Given the description of an element on the screen output the (x, y) to click on. 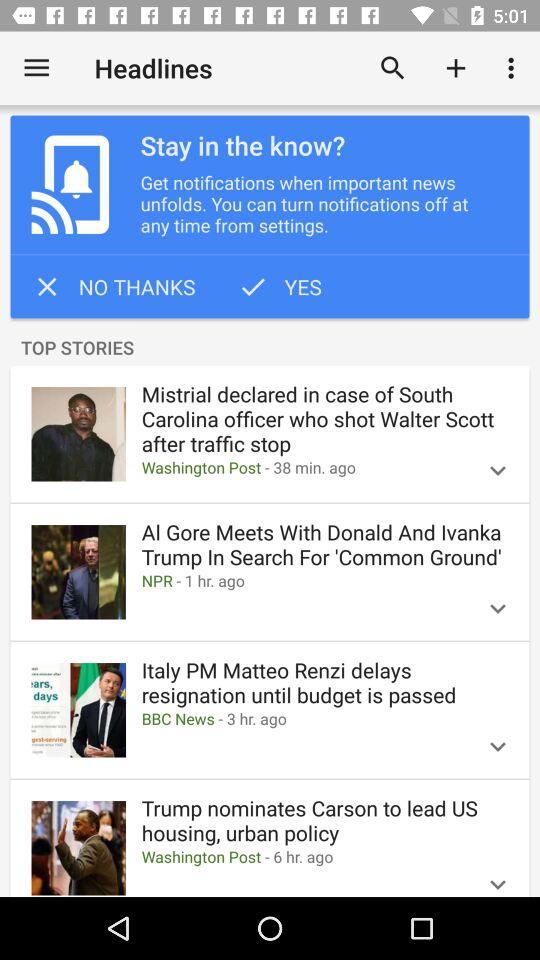
tap icon above the washington post 6 (324, 820)
